Given the description of an element on the screen output the (x, y) to click on. 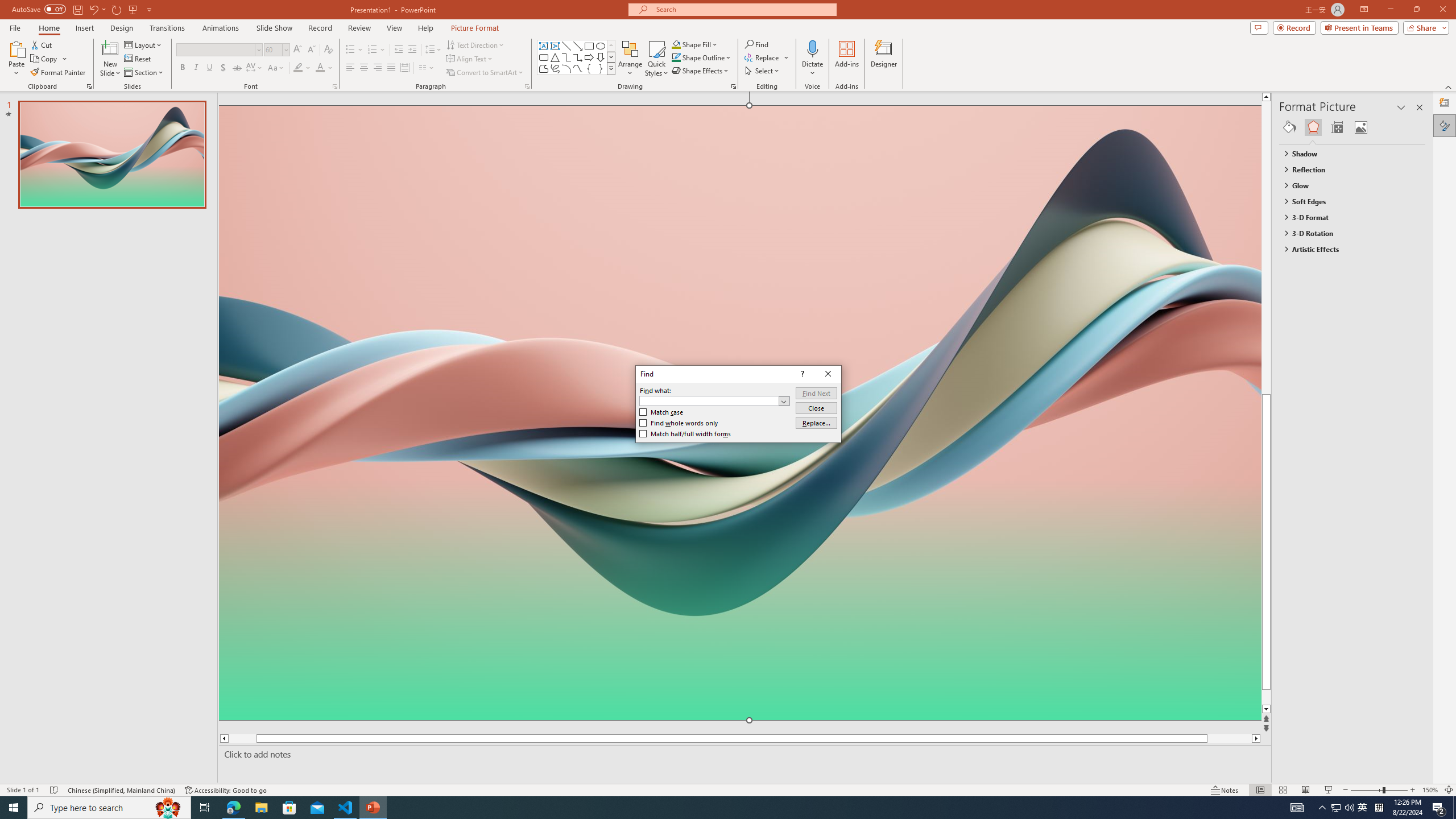
Reflection (1347, 169)
Find what (708, 400)
Picture Format (475, 28)
